Given the description of an element on the screen output the (x, y) to click on. 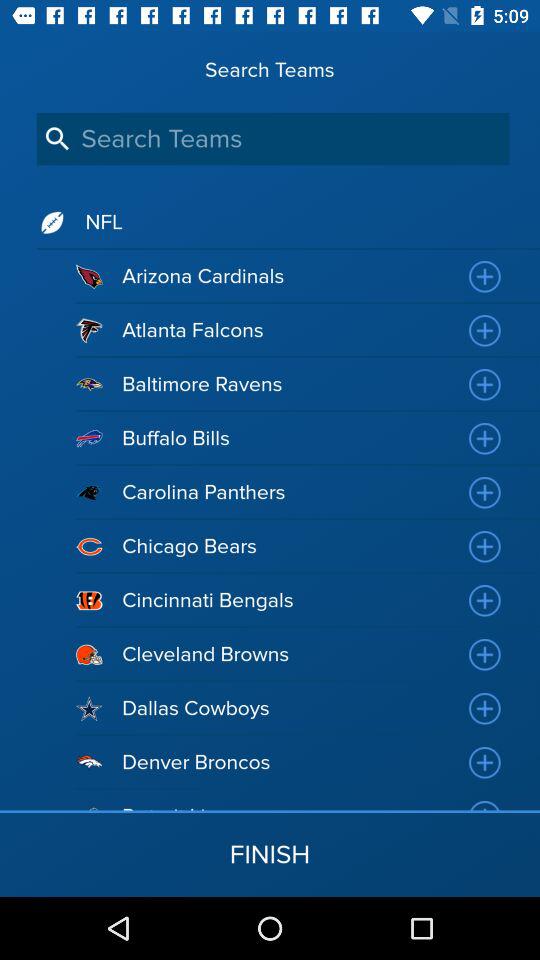
open search (272, 138)
